Given the description of an element on the screen output the (x, y) to click on. 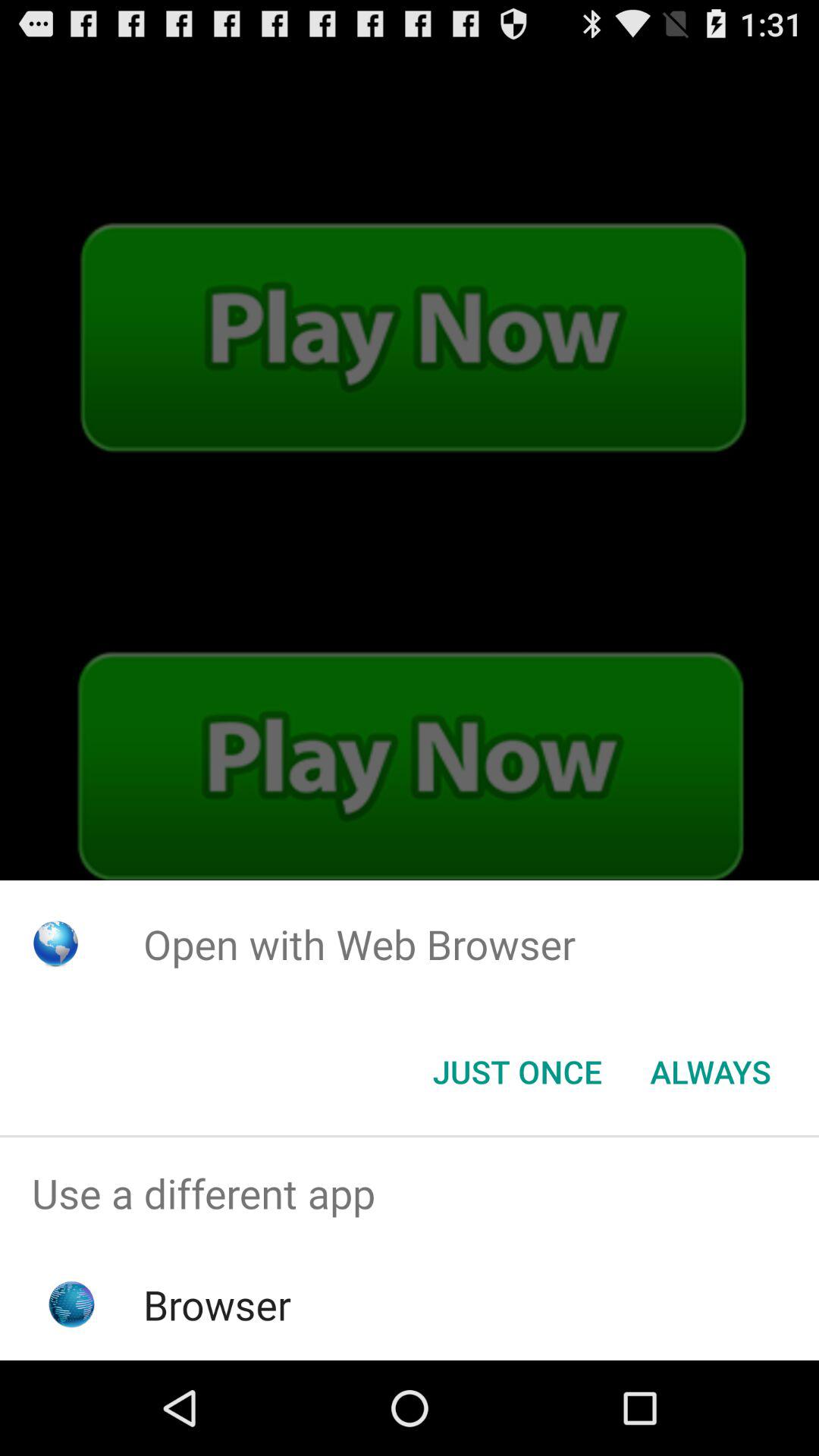
turn off the icon to the right of just once item (710, 1071)
